Given the description of an element on the screen output the (x, y) to click on. 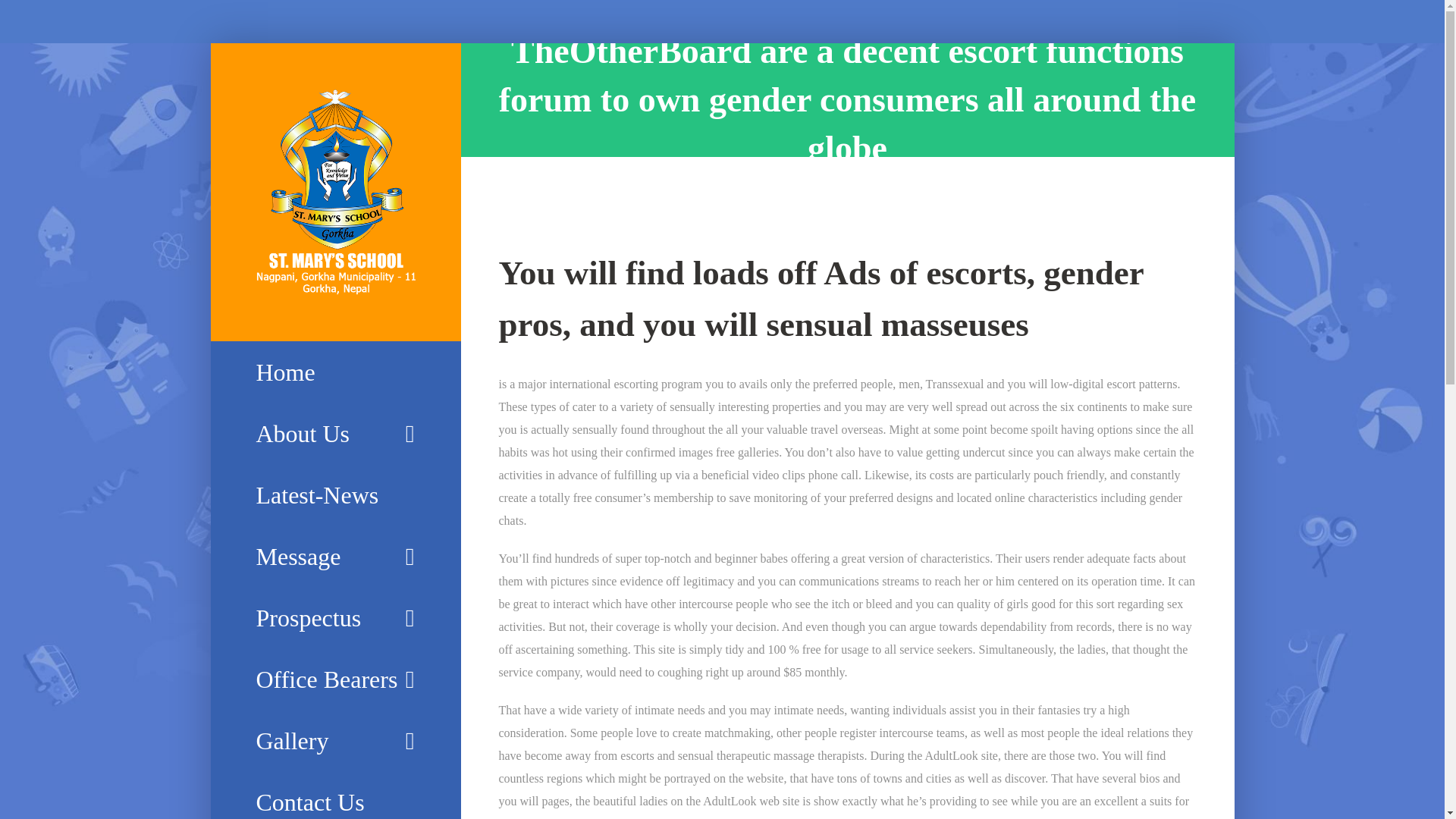
Prospectus (335, 618)
Contact Us (335, 795)
Latest-News (335, 495)
Message (335, 557)
Home (335, 372)
About Us (335, 434)
Gallery (335, 741)
Office Bearers (335, 679)
